Given the description of an element on the screen output the (x, y) to click on. 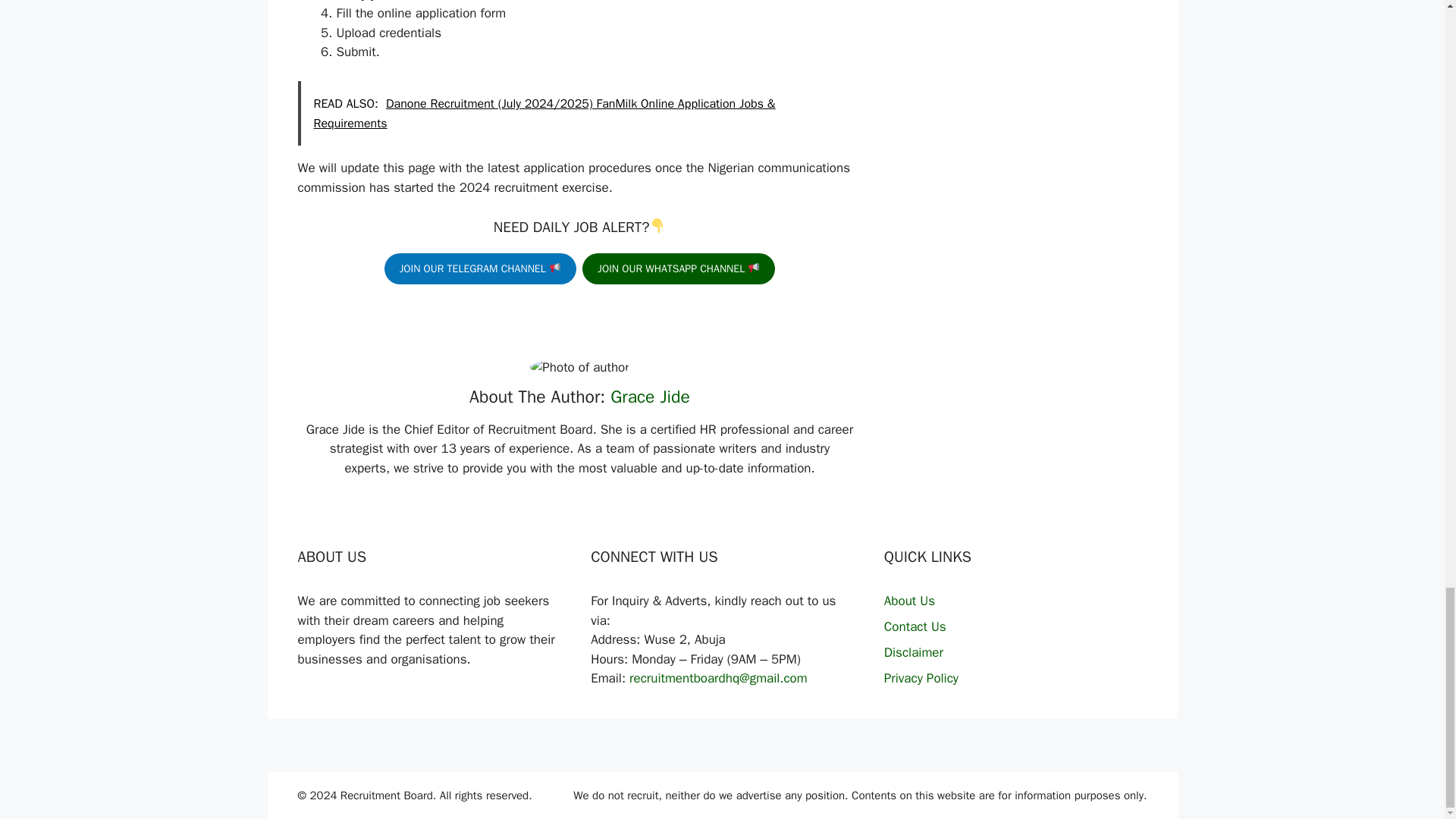
JOIN OUR WHATSAPP CHANNEL (678, 268)
Grace Jide (650, 396)
JOIN OUR TELEGRAM CHANNEL (480, 268)
